Given the description of an element on the screen output the (x, y) to click on. 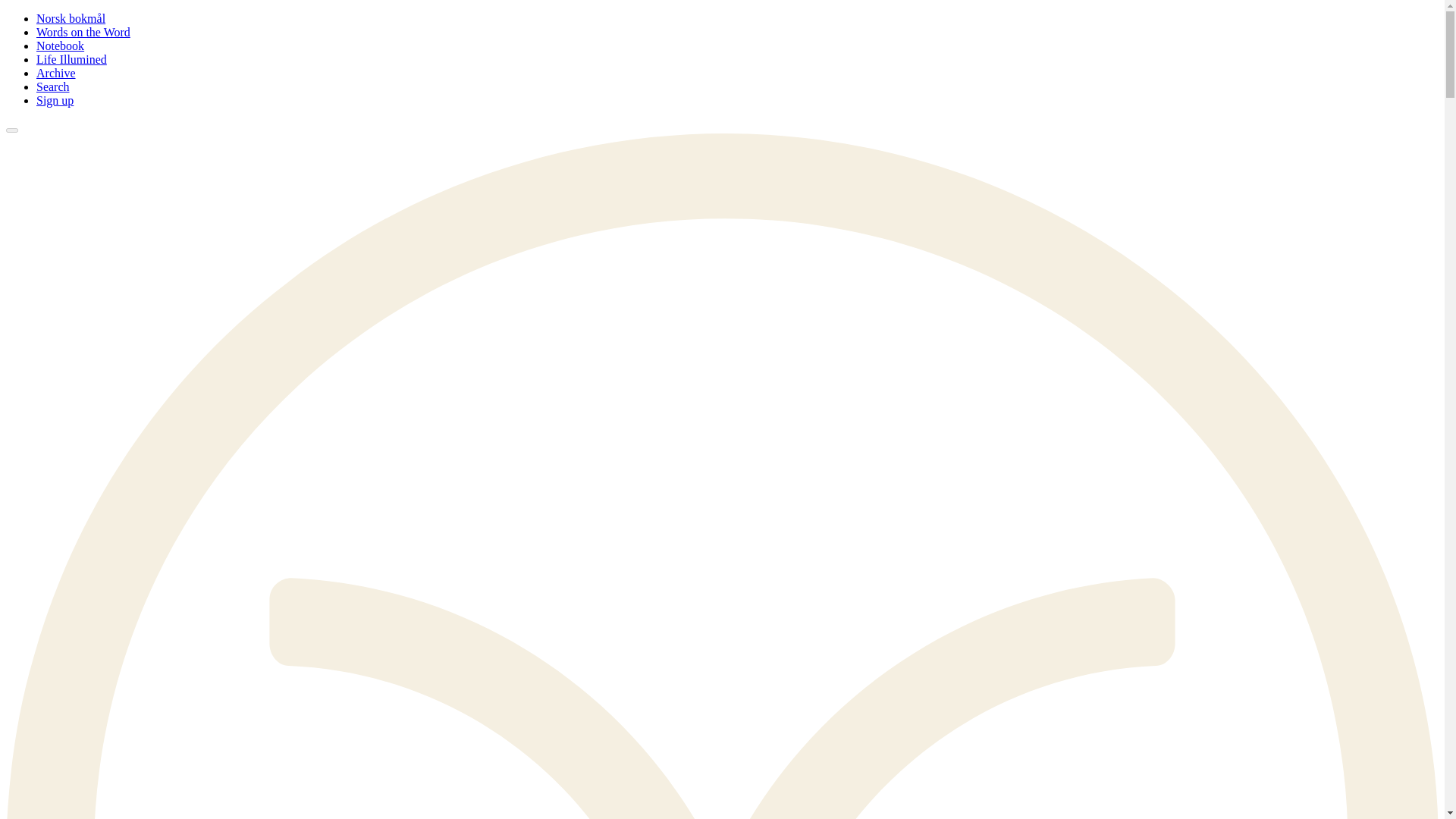
Notebook (60, 45)
Life Illumined (71, 59)
Search (52, 86)
Archive (55, 72)
Sign up (55, 100)
Words on the Word (83, 31)
